Given the description of an element on the screen output the (x, y) to click on. 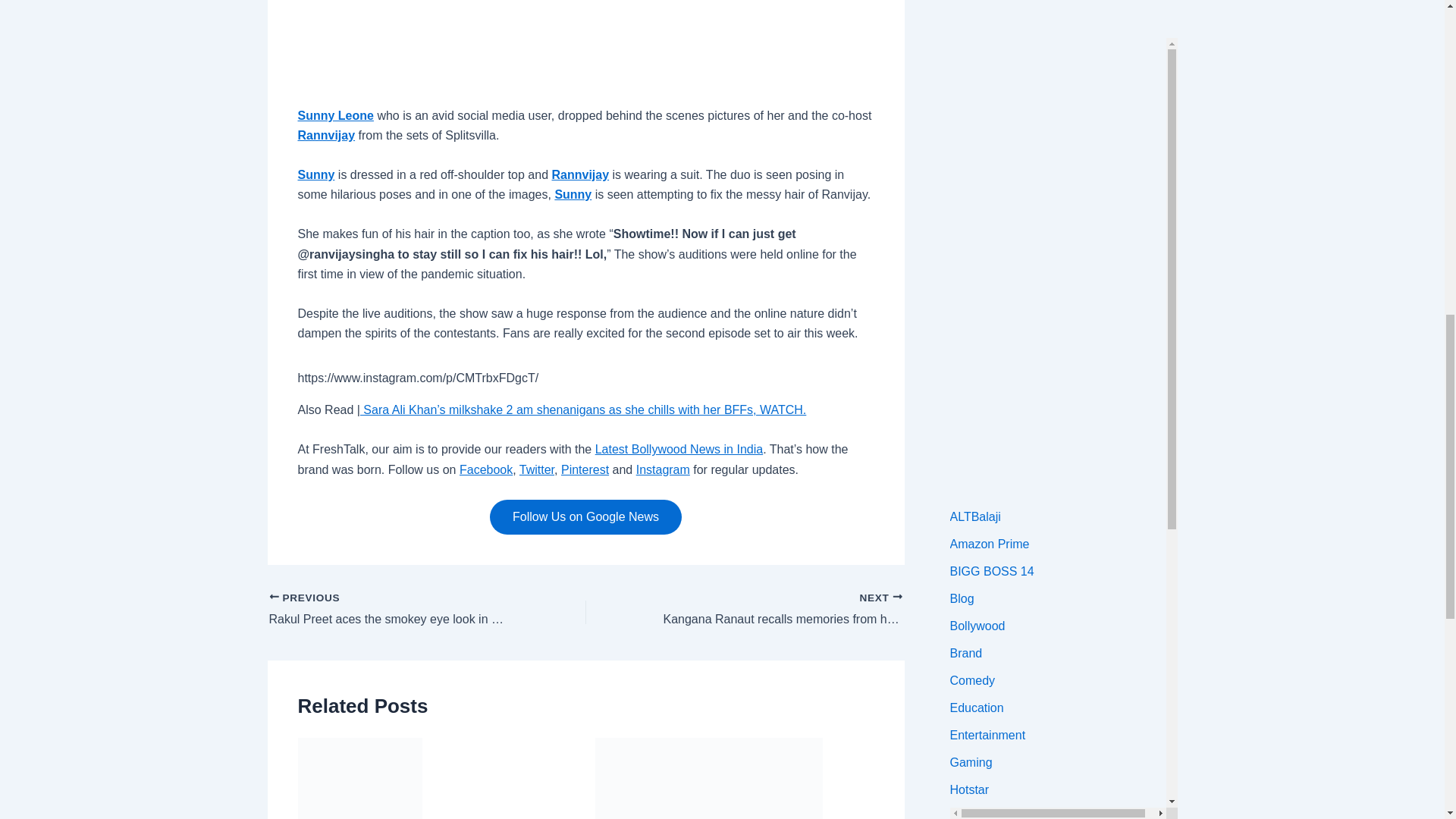
Latest Bollywood News in India (678, 449)
Pinterest (584, 469)
Rannvijay (580, 174)
Rannvijay (326, 134)
Sunny Leone (334, 115)
Sunny (572, 194)
Twitter (536, 469)
Sunny (315, 174)
